Given the description of an element on the screen output the (x, y) to click on. 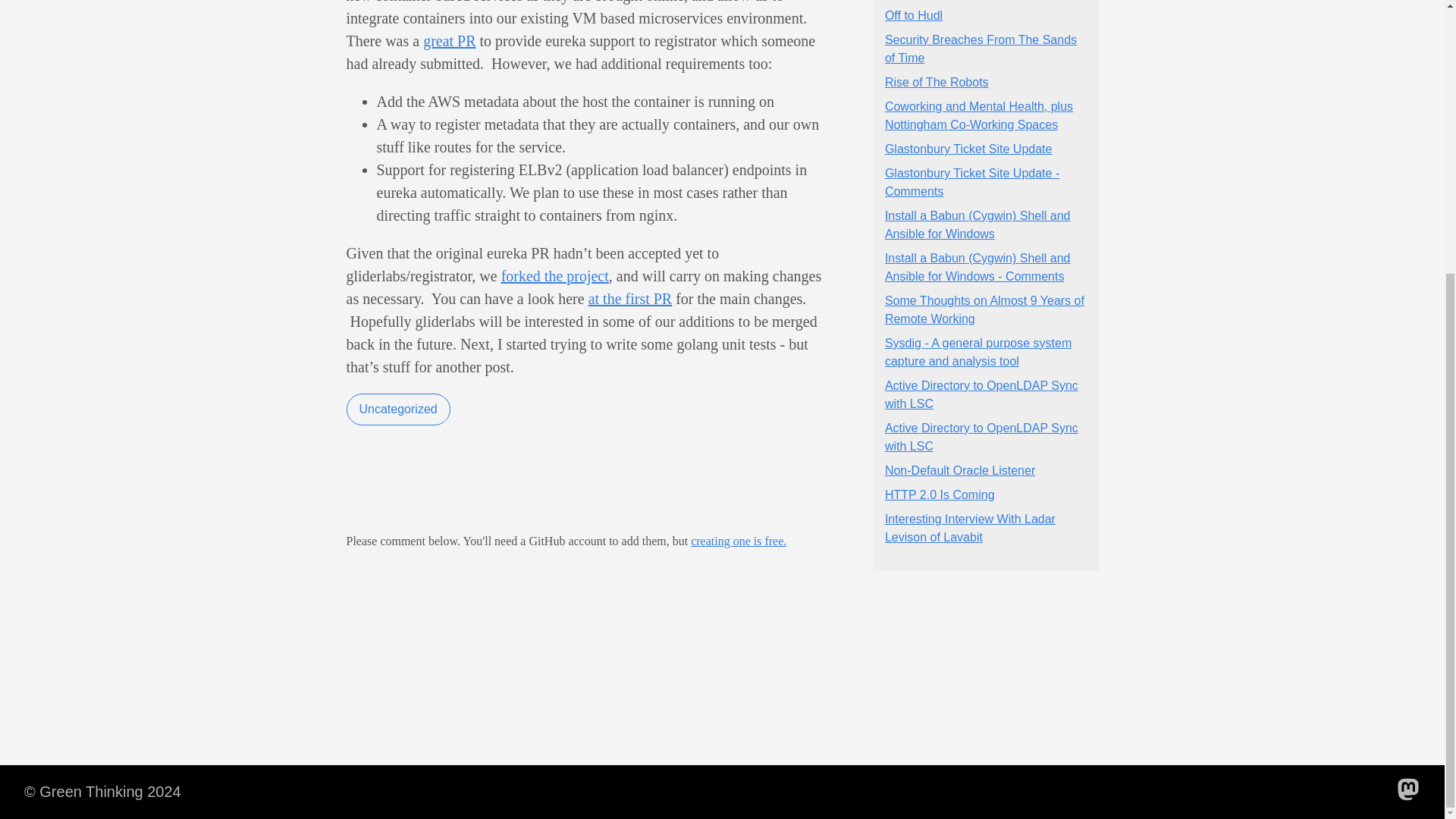
Uncategorized (397, 409)
Glastonbury Ticket Site Update (968, 148)
Non-Default Oracle Listener (960, 470)
Active Directory to OpenLDAP Sync with LSC (981, 394)
creating one is free. (738, 540)
forked the project (554, 275)
Interesting Interview With Ladar Levison of Lavabit (970, 527)
Active Directory to OpenLDAP Sync with LSC (981, 436)
Rise of The Robots (936, 82)
great PR (449, 40)
